Given the description of an element on the screen output the (x, y) to click on. 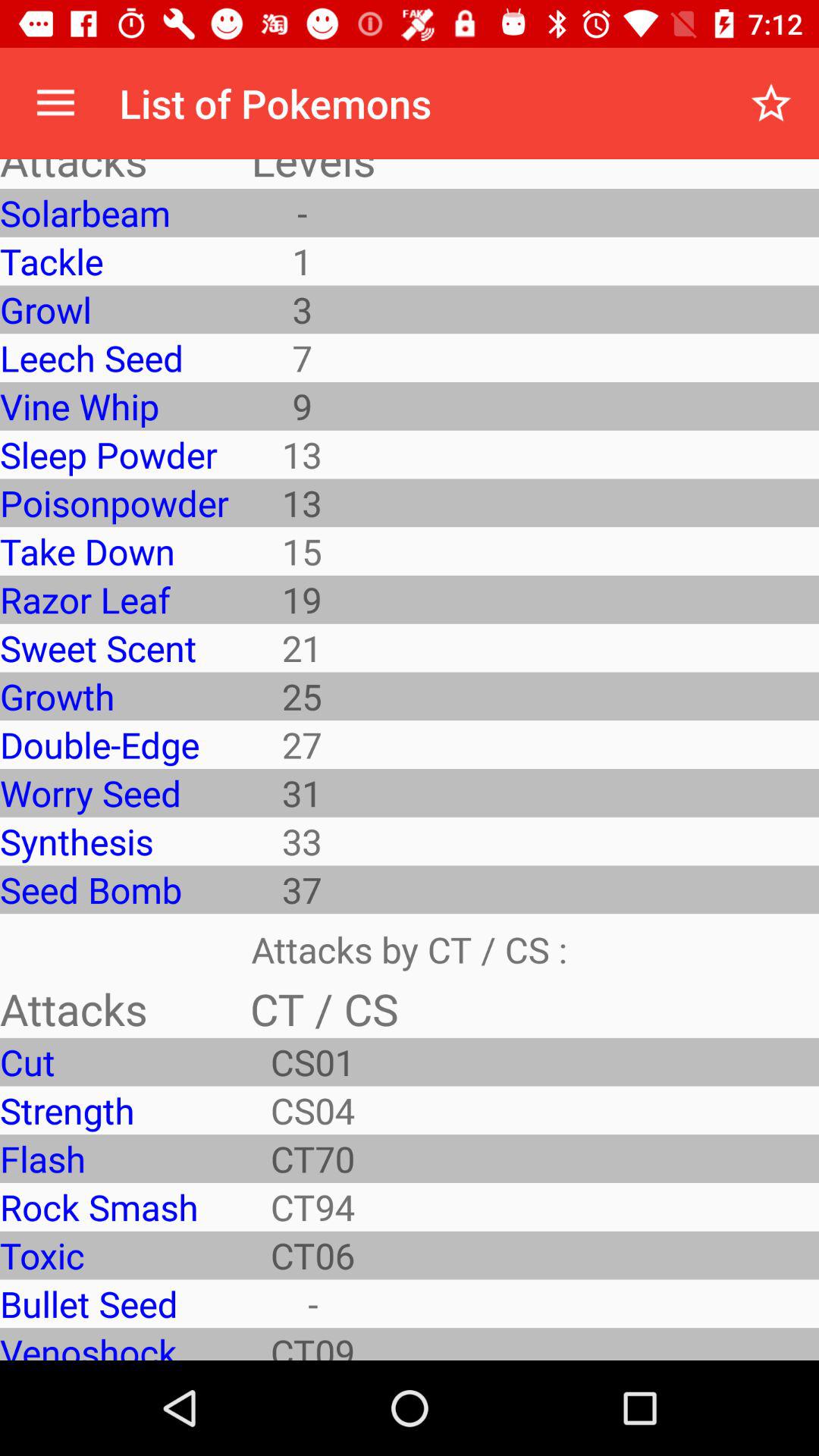
choose item above the poisonpowder item (114, 454)
